Given the description of an element on the screen output the (x, y) to click on. 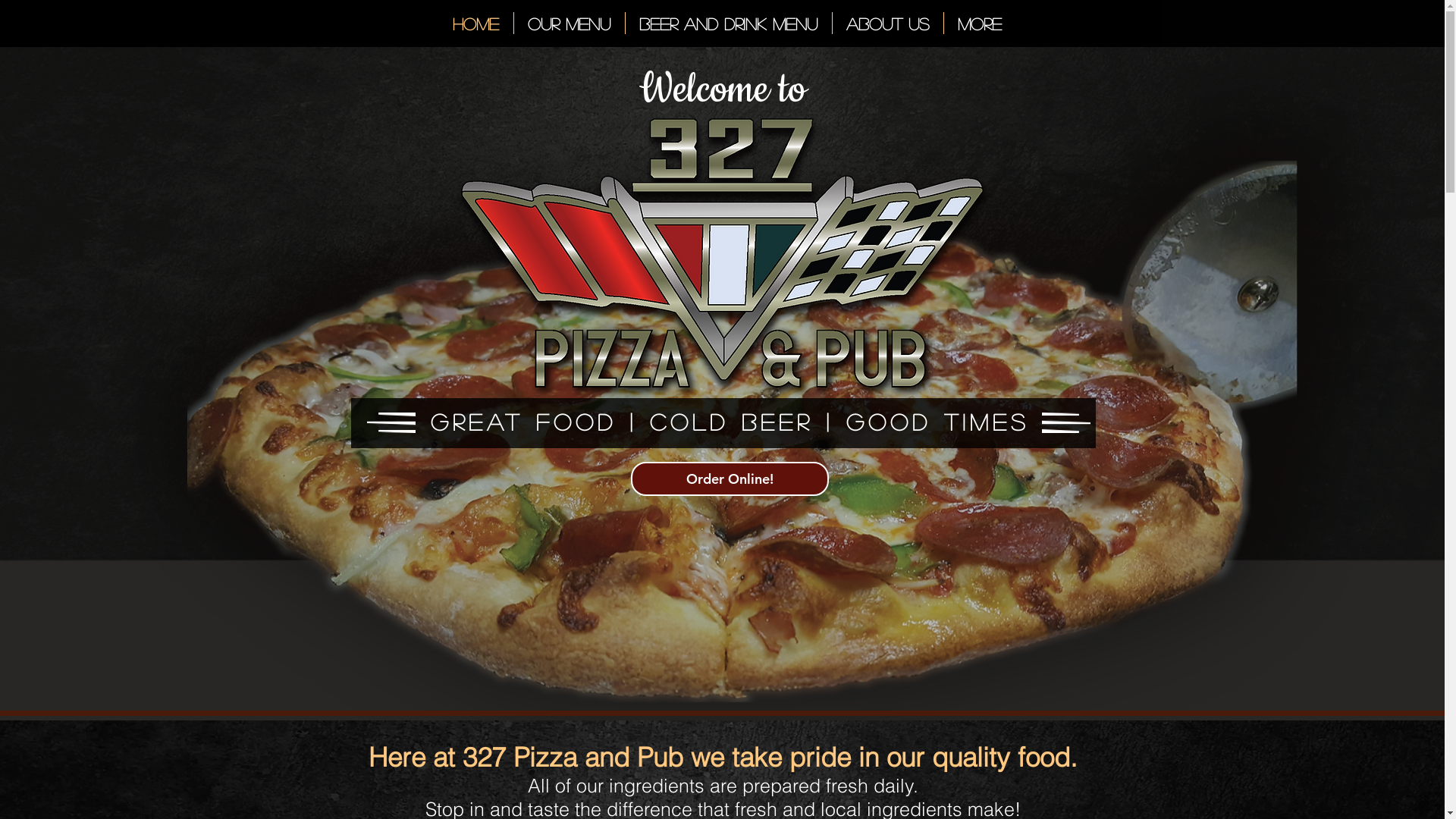
Order Online! Element type: text (729, 478)
Home Element type: text (475, 23)
About us Element type: text (887, 23)
Our Menu Element type: text (569, 23)
Beer and Drink Menu Element type: text (727, 23)
